Given the description of an element on the screen output the (x, y) to click on. 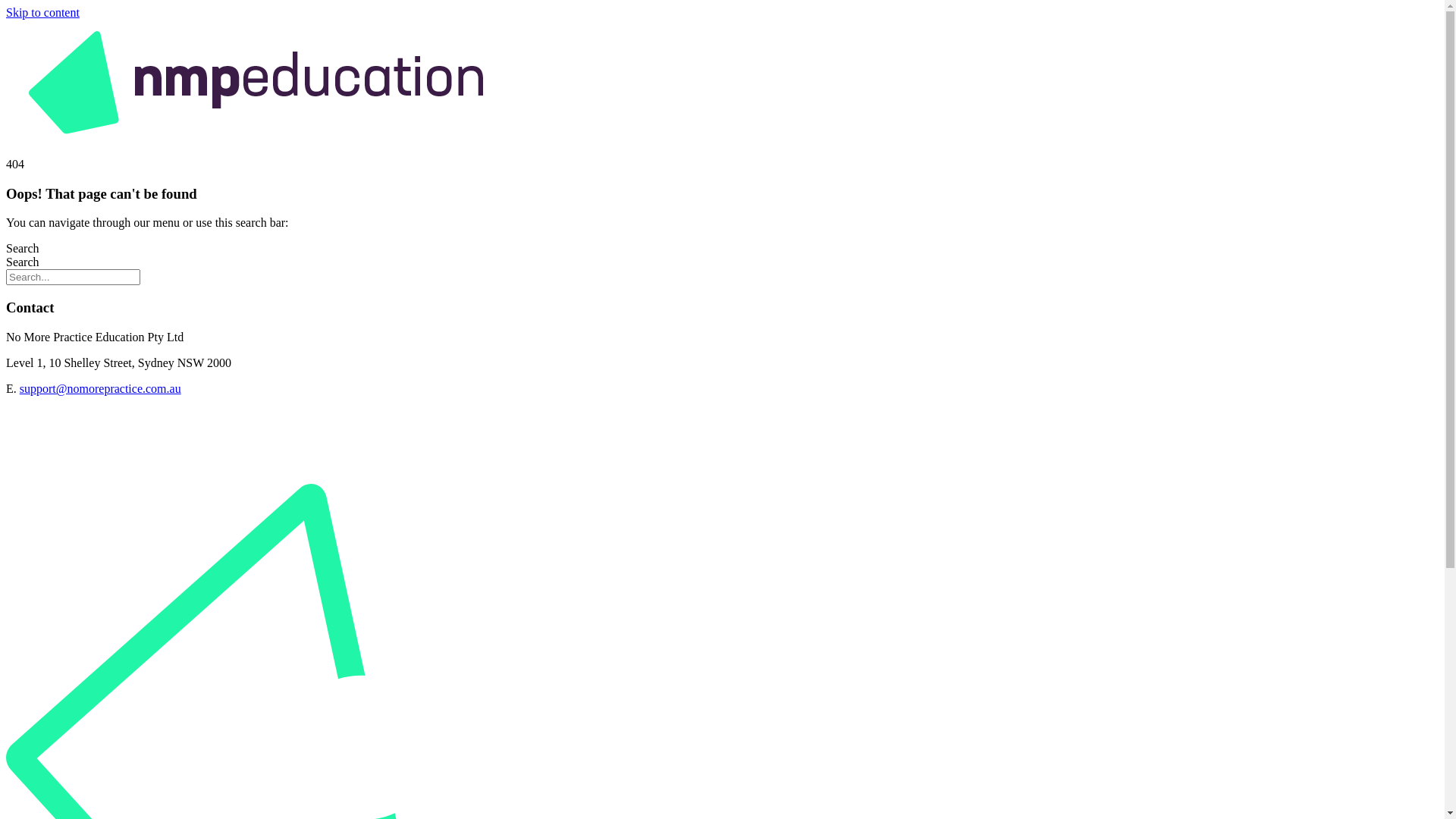
support@nomorepractice.com.au Element type: text (100, 388)
Skip to content Element type: text (42, 12)
